Given the description of an element on the screen output the (x, y) to click on. 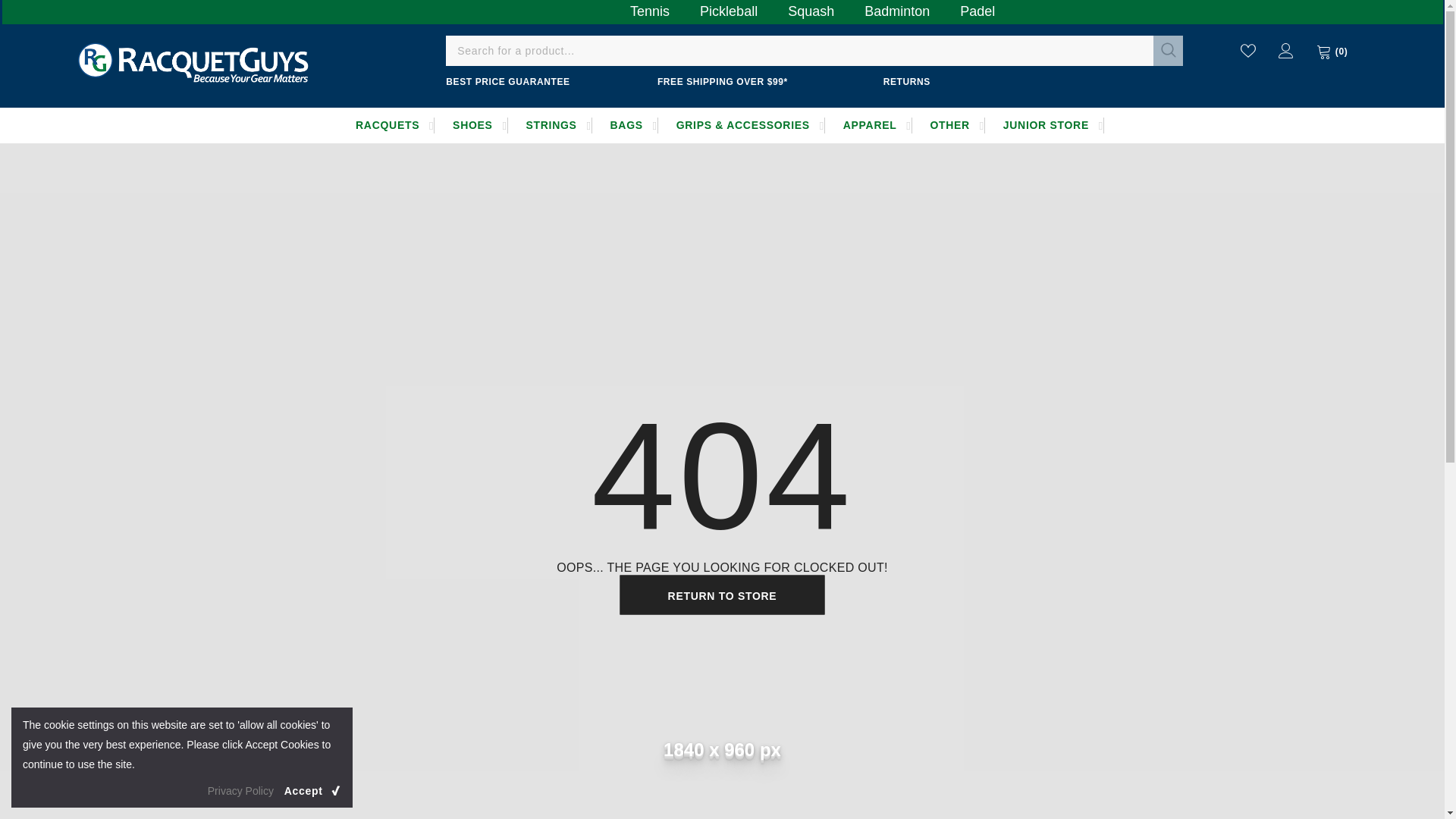
Cart (1332, 51)
Squash (810, 9)
Tennis (649, 9)
RACQUETS (386, 125)
user (1286, 50)
Badminton (896, 9)
Pickleball (728, 9)
Logo (192, 61)
Padel (977, 9)
RETURNS (906, 81)
user (1286, 54)
BEST PRICE GUARANTEE (507, 81)
